Given the description of an element on the screen output the (x, y) to click on. 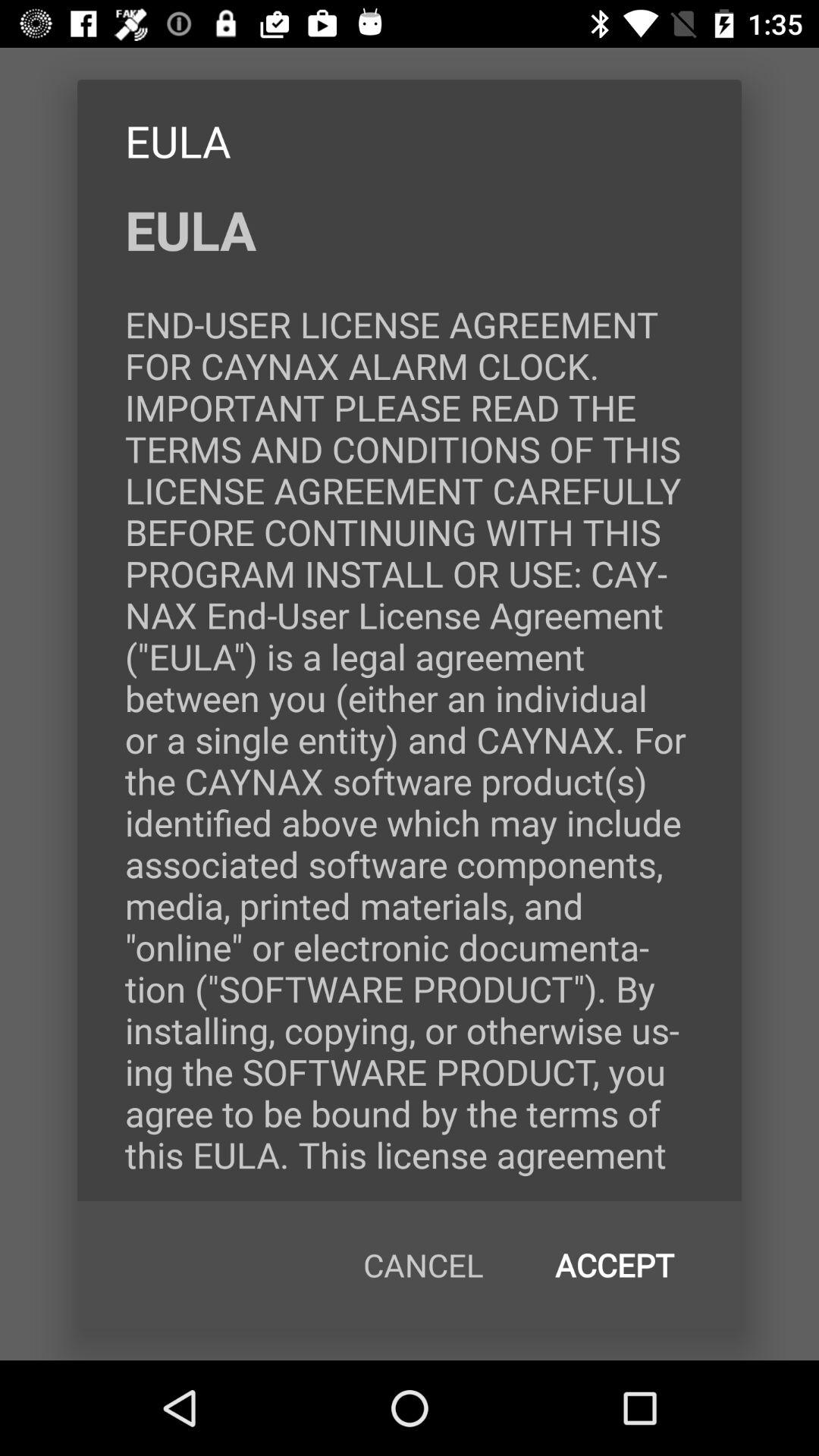
flip to the accept icon (613, 1264)
